Given the description of an element on the screen output the (x, y) to click on. 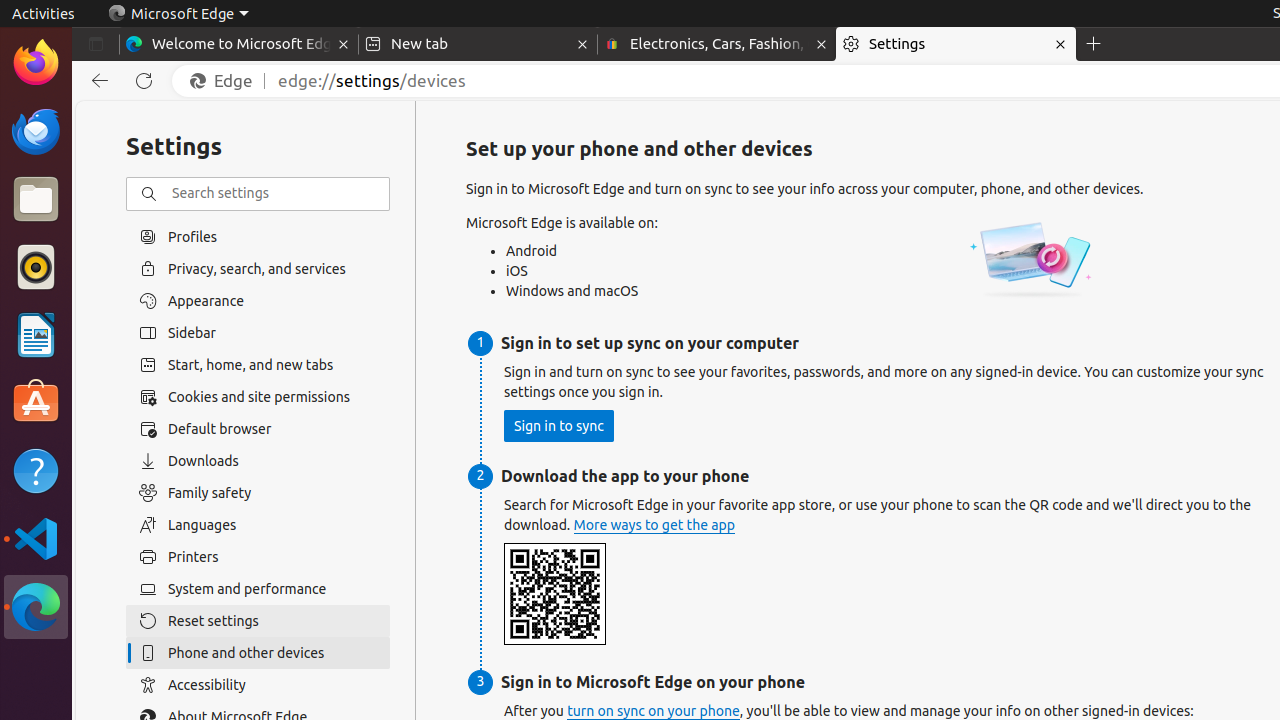
Rhythmbox Element type: push-button (36, 267)
Downloads Element type: tree-item (258, 461)
Phone and other devices Element type: tree-item (258, 653)
New Tab Element type: push-button (1094, 44)
Cookies and site permissions Element type: tree-item (258, 397)
